Given the description of an element on the screen output the (x, y) to click on. 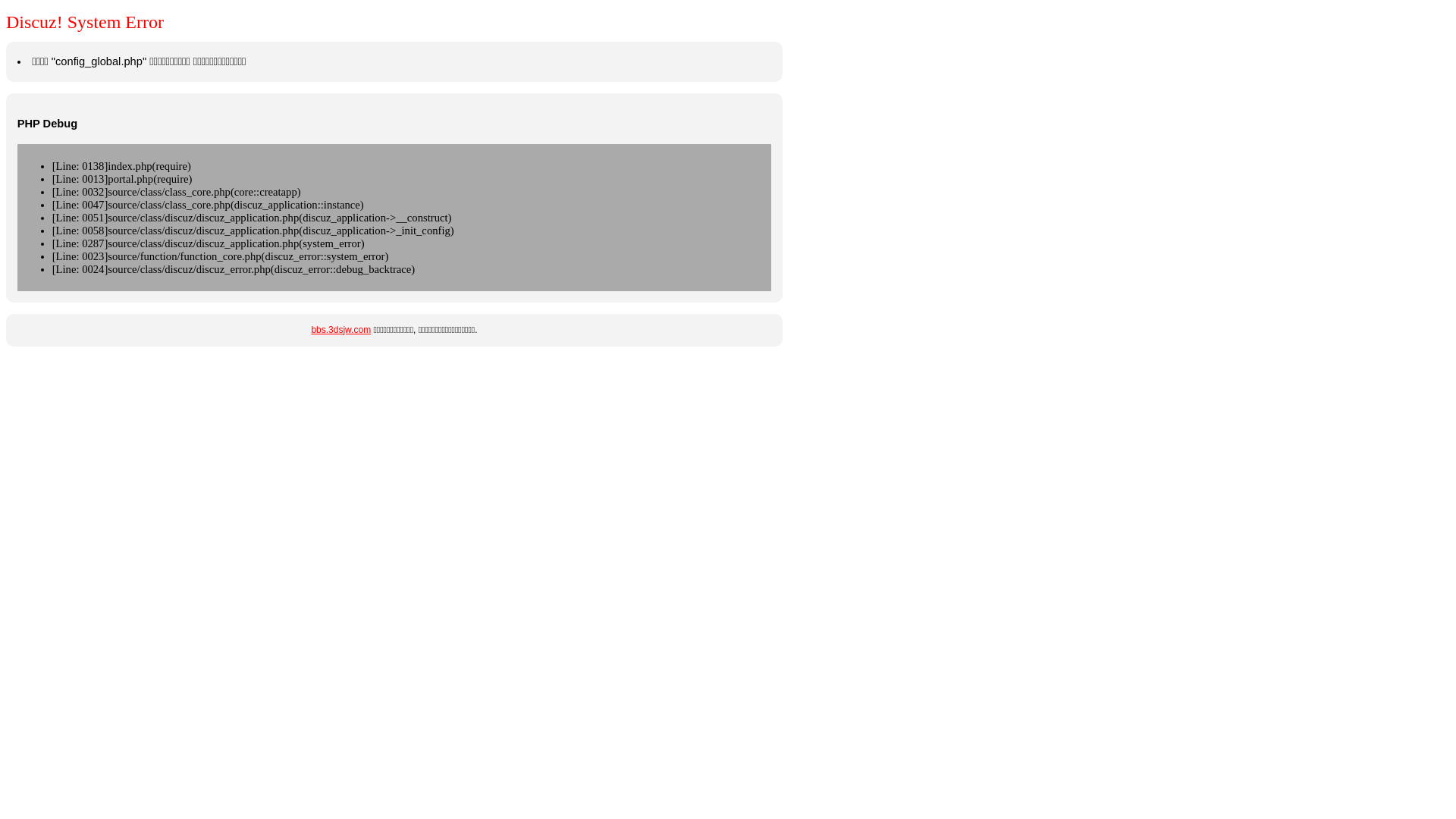
bbs.3dsjw.com Element type: text (340, 329)
